Given the description of an element on the screen output the (x, y) to click on. 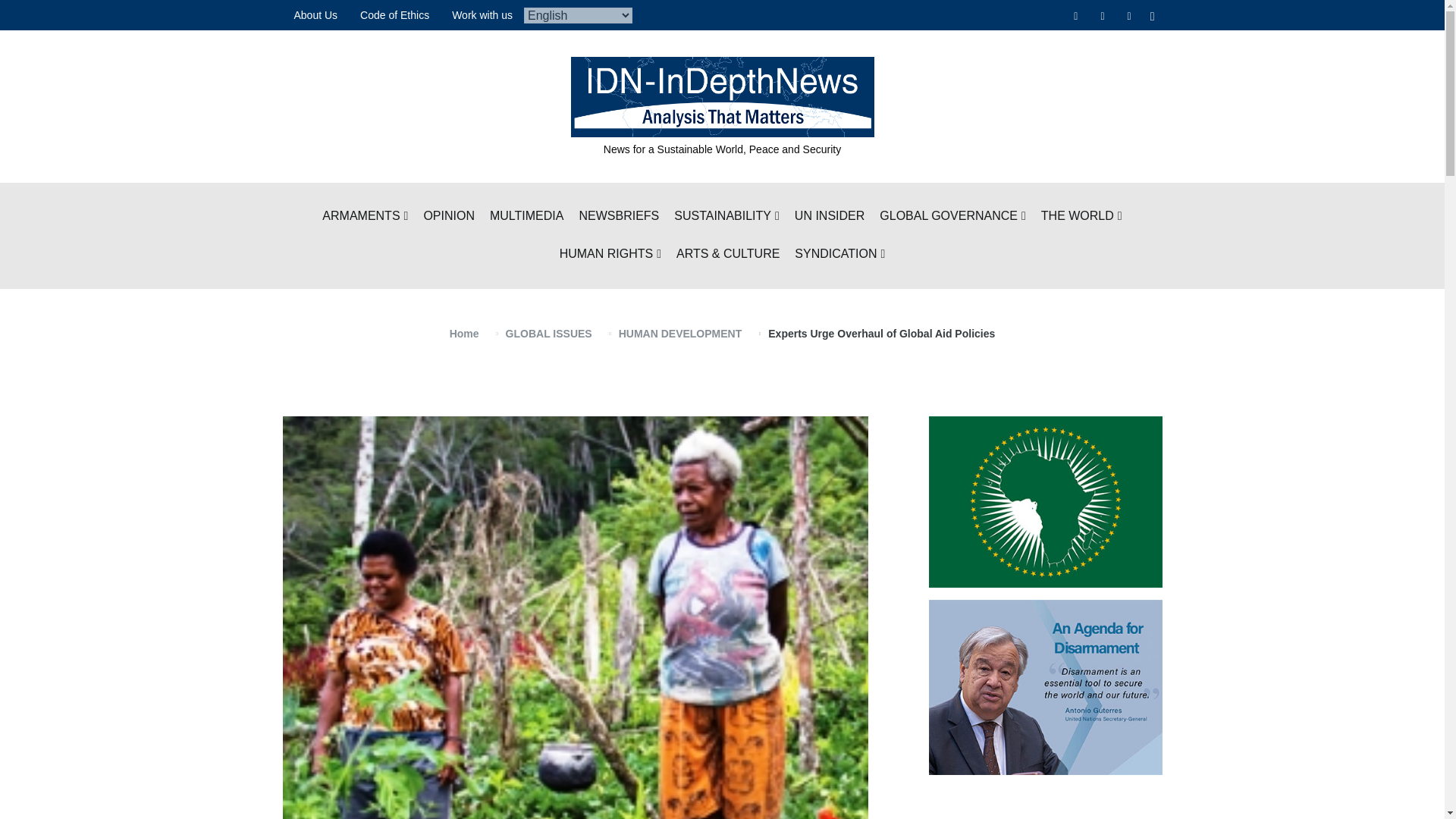
Work with us (482, 14)
ARMAMENTS (364, 216)
About Us (315, 14)
Code of Ethics (395, 14)
NEWSBRIEFS (618, 216)
UN INSIDER (829, 216)
MULTIMEDIA (526, 216)
GLOBAL GOVERNANCE (952, 216)
OPINION (448, 216)
SUSTAINABILITY (726, 216)
